Given the description of an element on the screen output the (x, y) to click on. 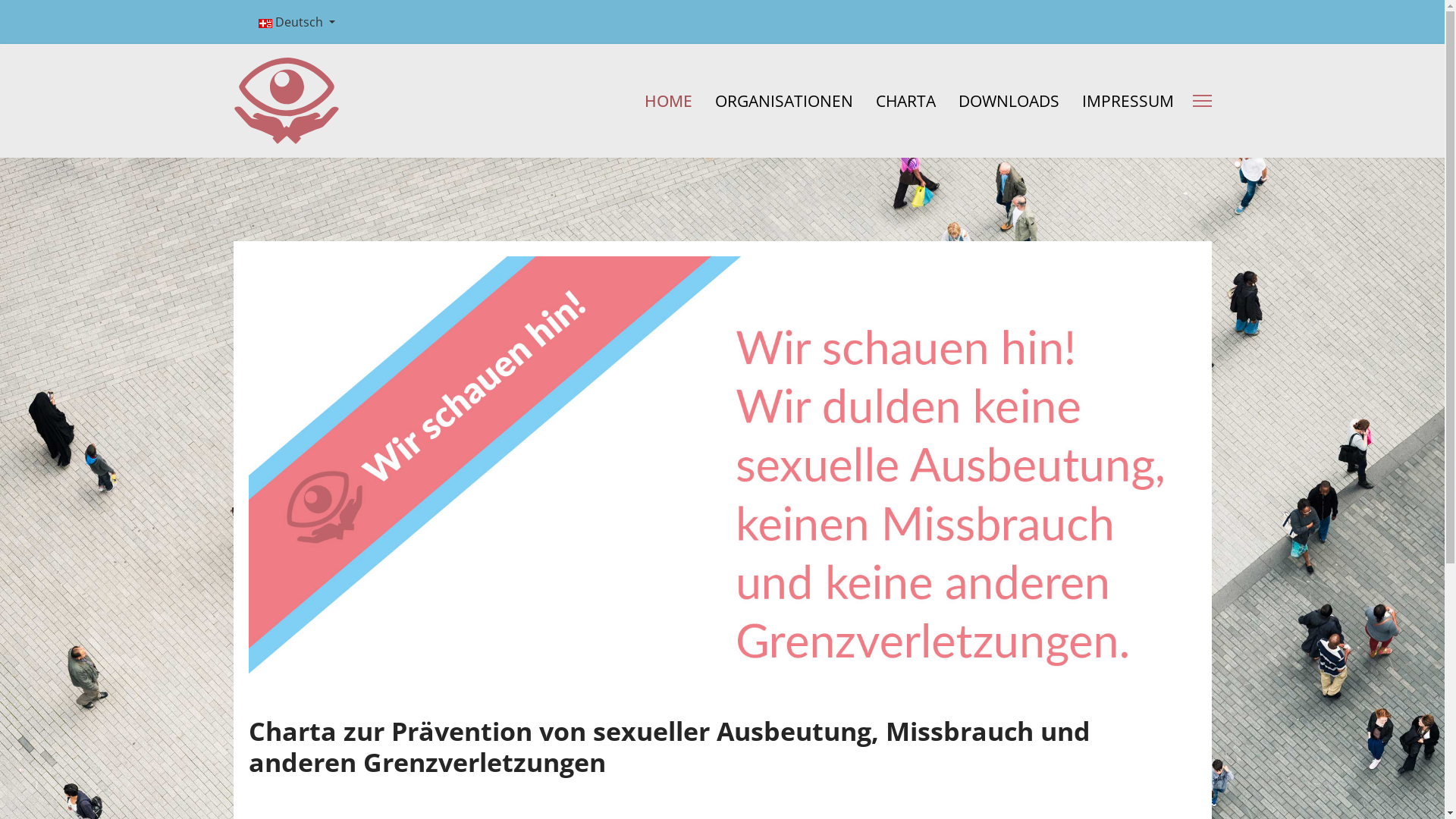
IMPRESSUM Element type: text (1121, 100)
ORGANISATIONEN Element type: text (783, 100)
Menu Element type: hover (1201, 100)
CHARTA Element type: text (905, 100)
HOME Element type: text (667, 100)
  Deutsch Element type: text (295, 21)
DOWNLOADS Element type: text (1008, 100)
